Given the description of an element on the screen output the (x, y) to click on. 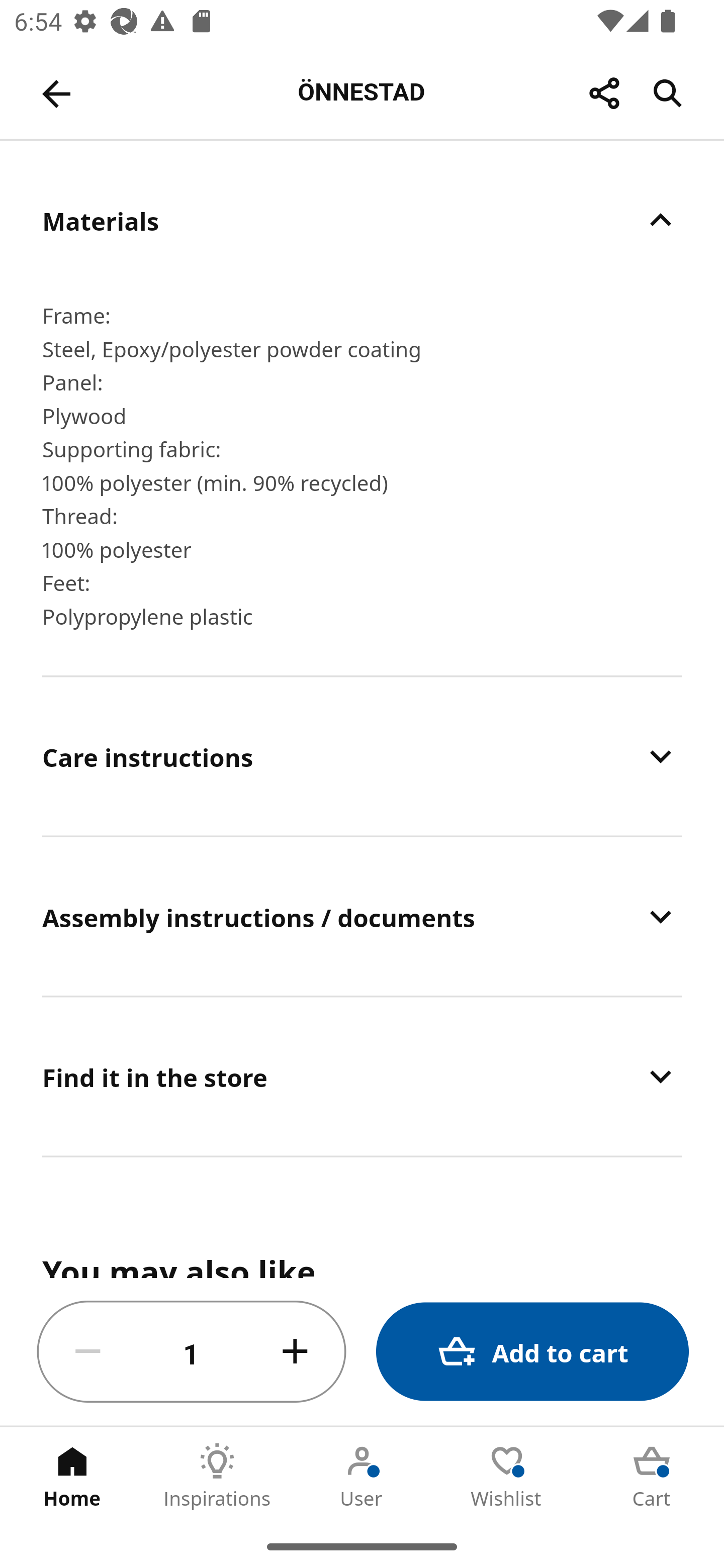
Materials (361, 219)
Care instructions (361, 756)
Assembly instructions / documents (361, 916)
Find it in the store (361, 1076)
Add to cart (531, 1352)
1 (191, 1352)
Home
Tab 1 of 5 (72, 1476)
Inspirations
Tab 2 of 5 (216, 1476)
User
Tab 3 of 5 (361, 1476)
Wishlist
Tab 4 of 5 (506, 1476)
Cart
Tab 5 of 5 (651, 1476)
